Given the description of an element on the screen output the (x, y) to click on. 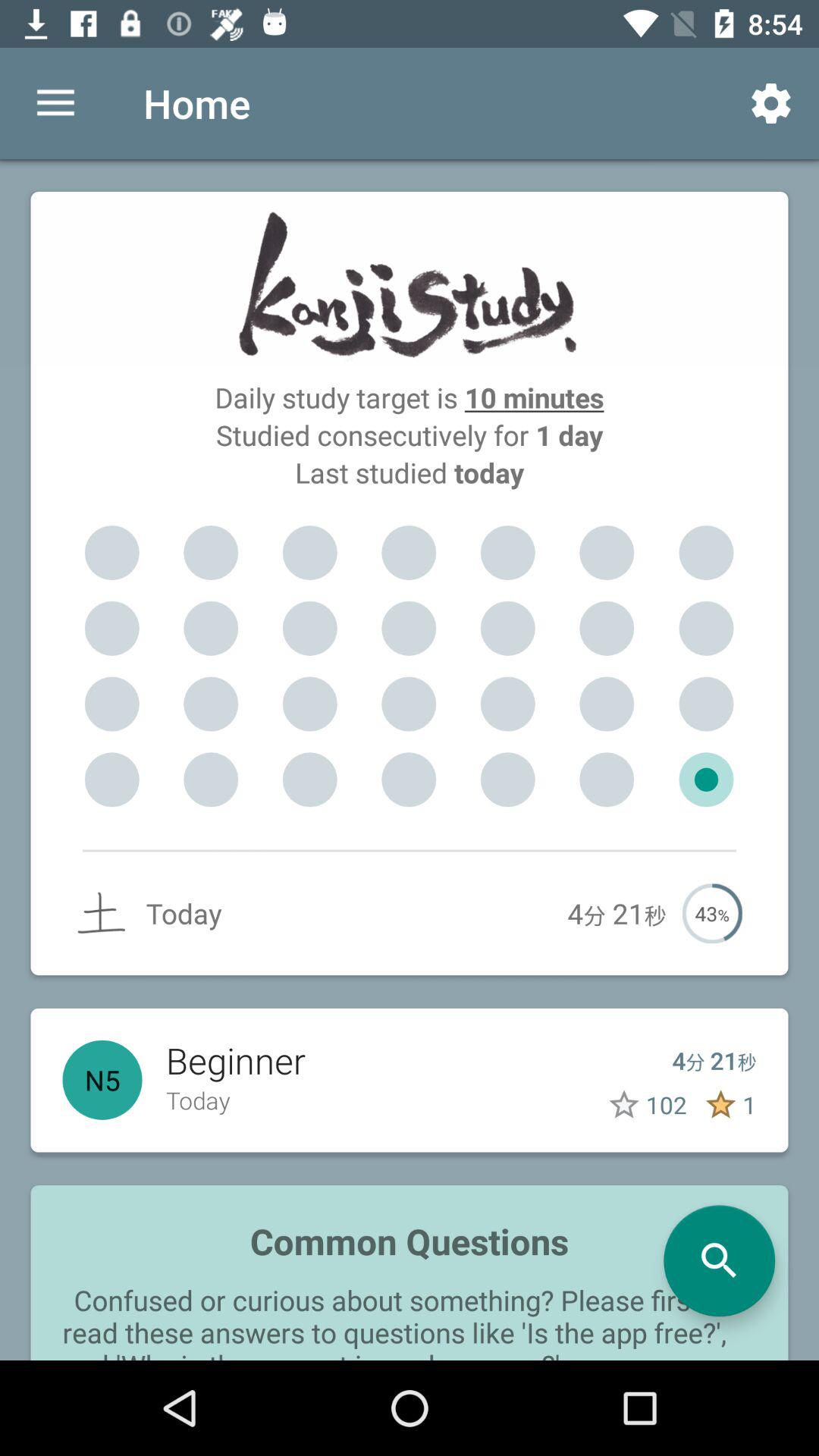
choose the item below the last studied today (111, 552)
